Given the description of an element on the screen output the (x, y) to click on. 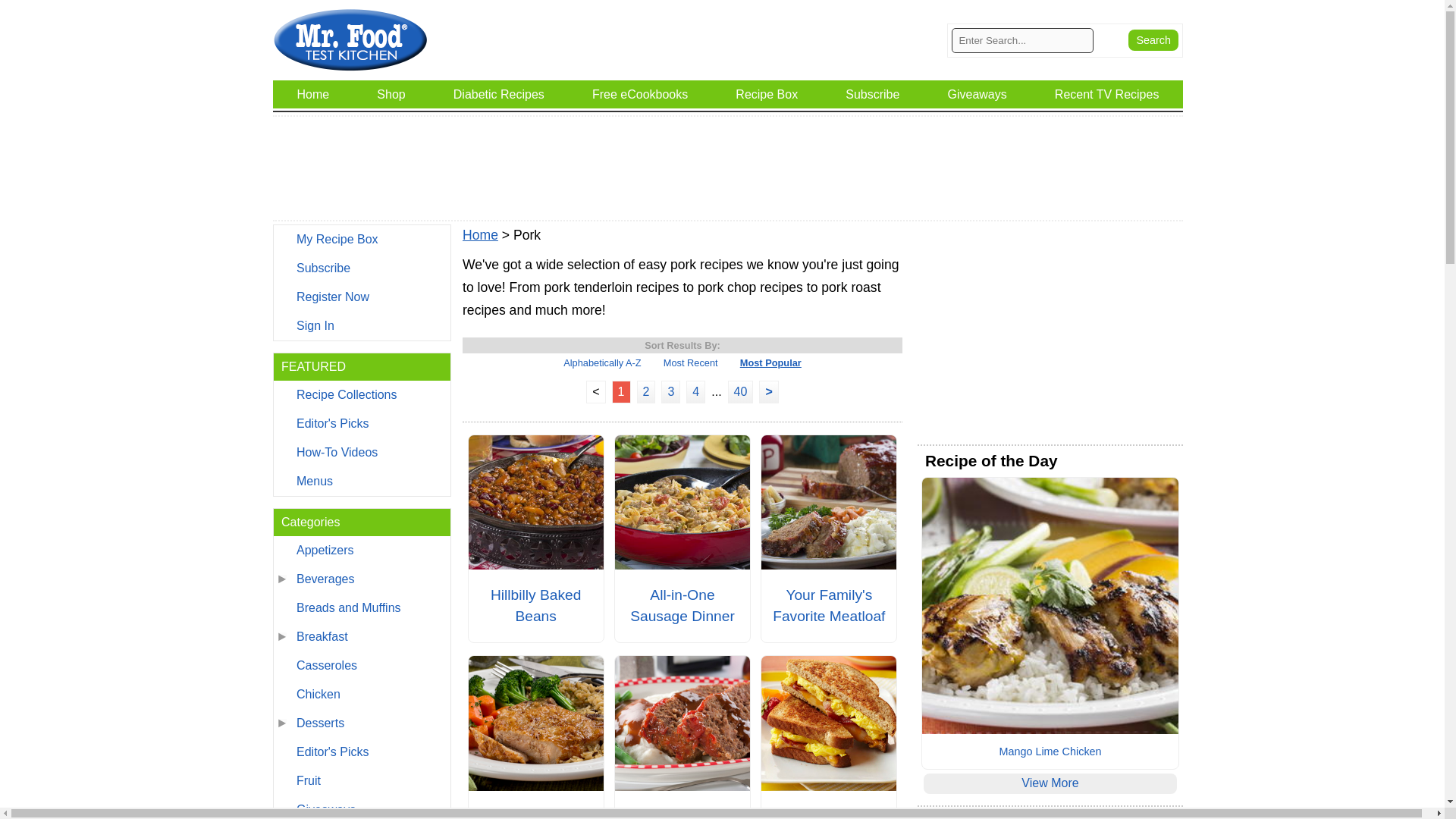
Subscribe (361, 267)
Go to Page 4 (694, 391)
Go to Page 3 (670, 391)
Go to Next Page (767, 391)
Register Now (361, 297)
Go to Last Page (741, 391)
Sign In (361, 326)
Go to Page 2 (646, 391)
My Recipe Box (361, 239)
Search (1152, 39)
